Given the description of an element on the screen output the (x, y) to click on. 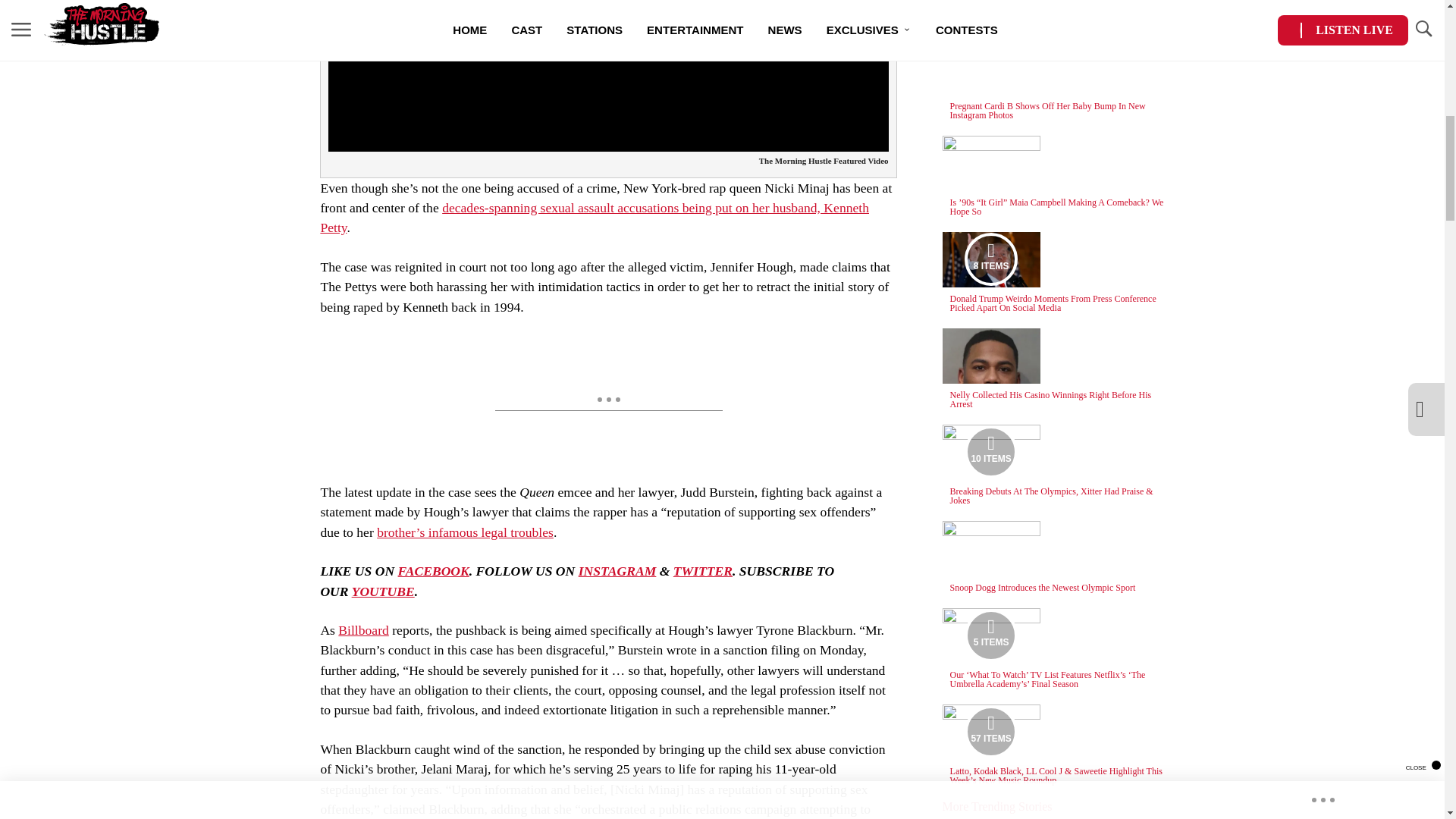
Media Playlist (990, 258)
Media Playlist (990, 451)
FACEBOOK (432, 570)
Media Playlist (990, 731)
Media Playlist (990, 635)
INSTAGRAM (617, 570)
TWITTER (702, 570)
YOUTUBE (383, 590)
Billboard (362, 630)
